Given the description of an element on the screen output the (x, y) to click on. 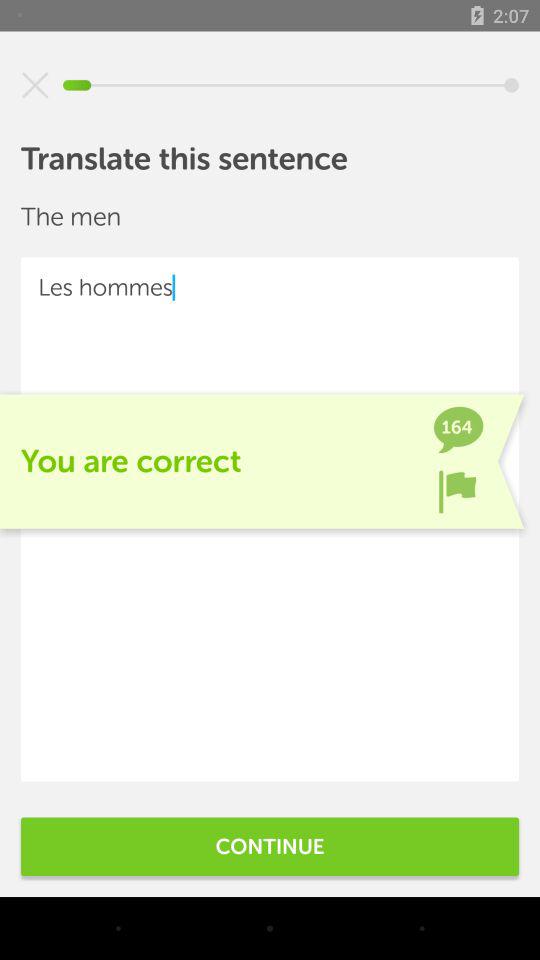
scroll until continue icon (270, 846)
